Given the description of an element on the screen output the (x, y) to click on. 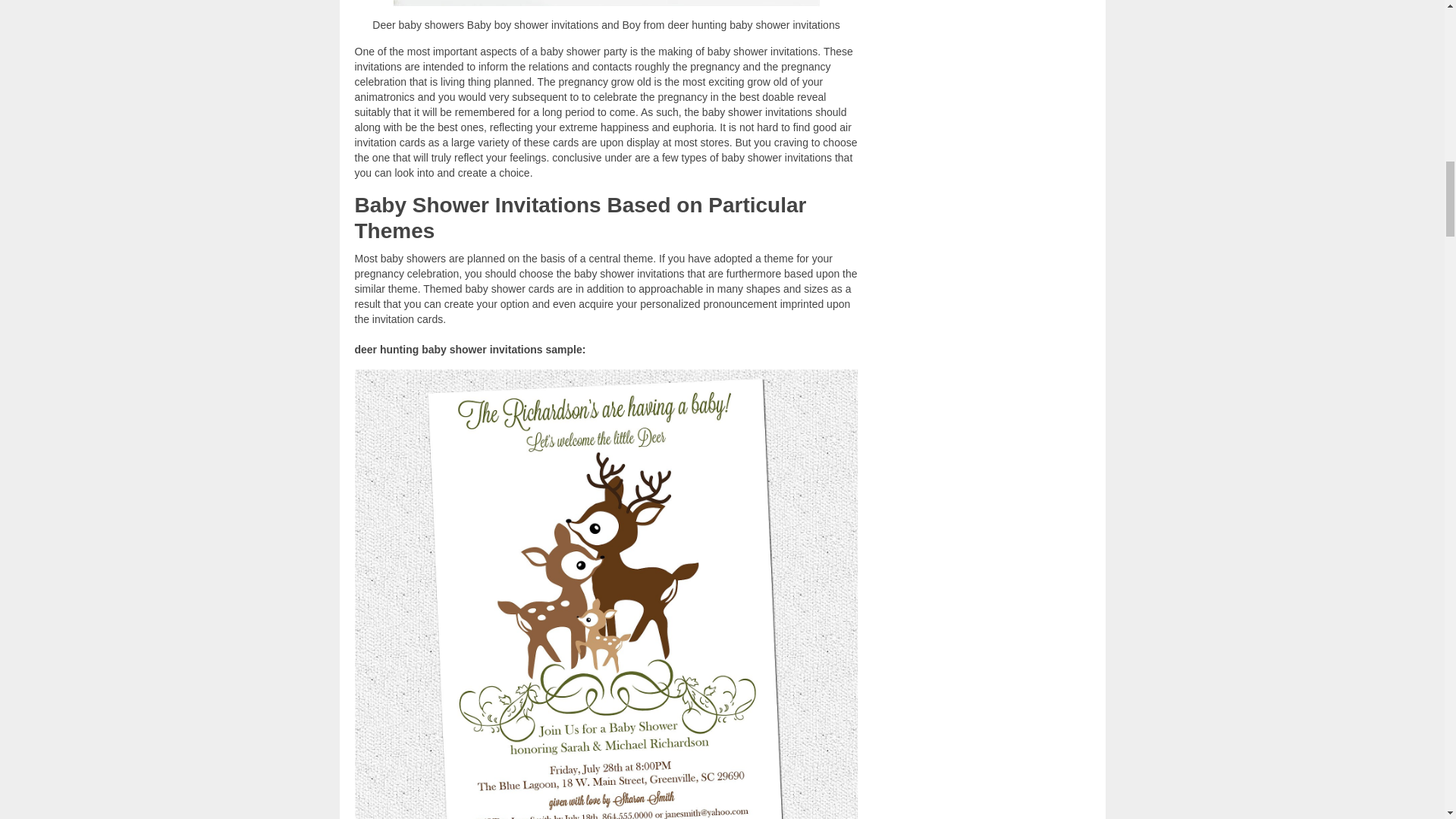
Deer baby showers Baby boy shower invitations and Boy (607, 2)
